Given the description of an element on the screen output the (x, y) to click on. 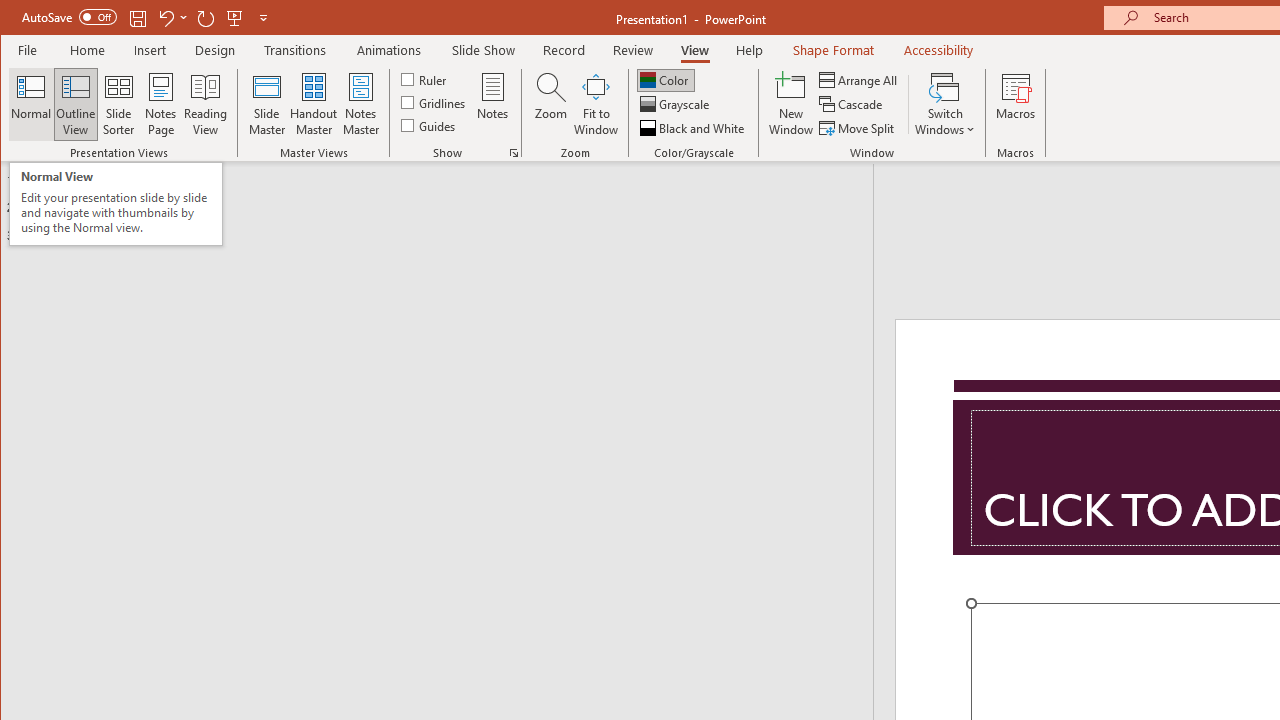
Outline View (75, 104)
Zoom... (550, 104)
Macros (1016, 104)
Slide Master (266, 104)
Black and White (694, 127)
